Given the description of an element on the screen output the (x, y) to click on. 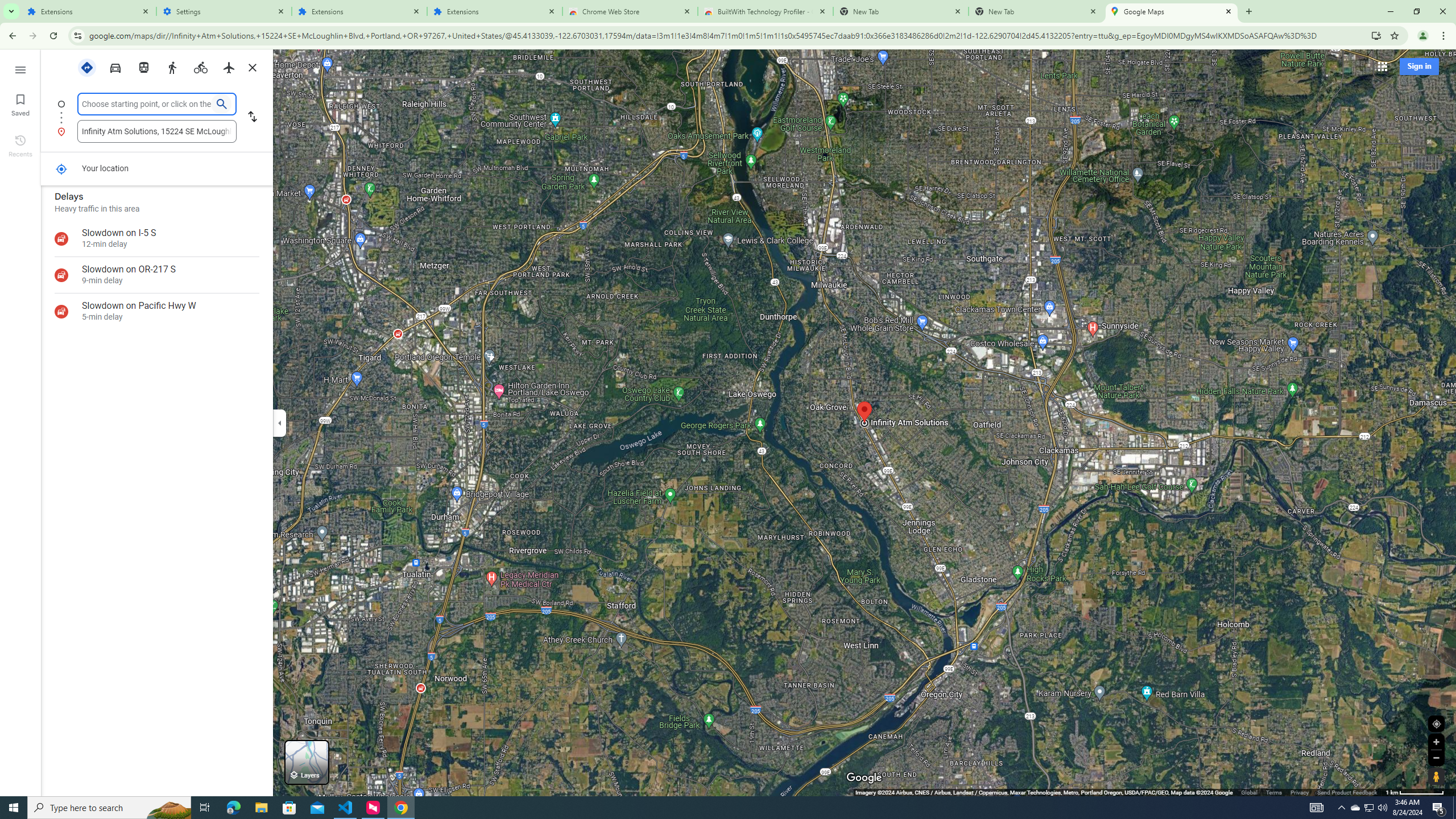
Show Your Location (1436, 723)
Cycling (200, 66)
Cycling (200, 67)
Layers (306, 762)
Close directions (252, 67)
Global (1248, 792)
Extensions (88, 11)
Settings (224, 11)
Transit (143, 66)
Driving (115, 66)
